Given the description of an element on the screen output the (x, y) to click on. 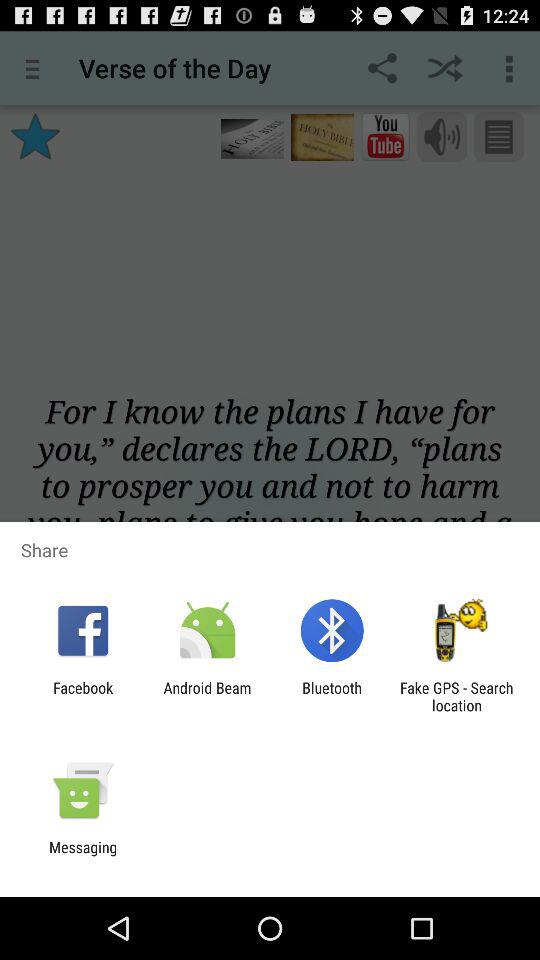
select facebook app (83, 696)
